Given the description of an element on the screen output the (x, y) to click on. 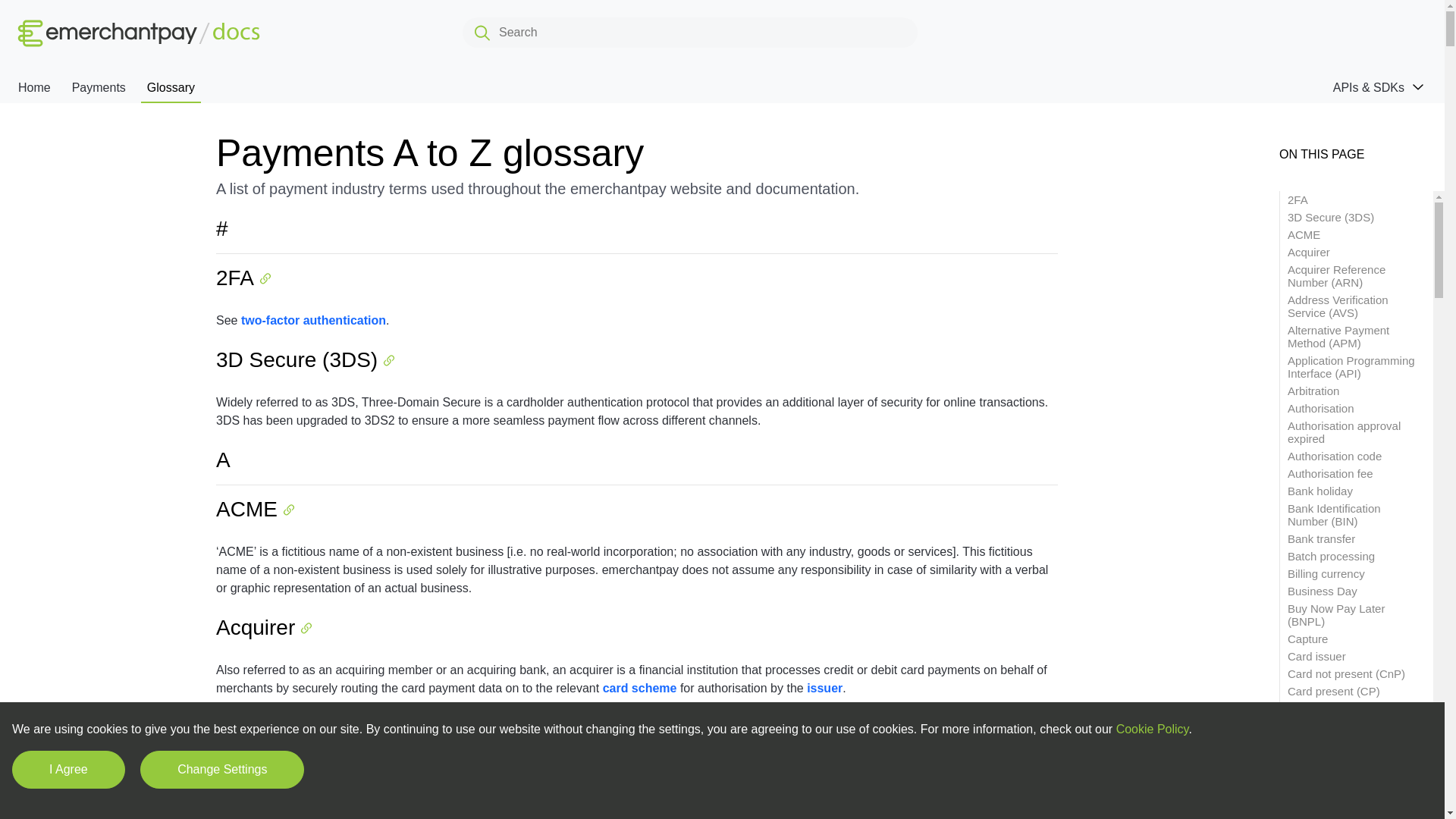
Payments (98, 86)
Home (33, 86)
Glossary (170, 86)
